Given the description of an element on the screen output the (x, y) to click on. 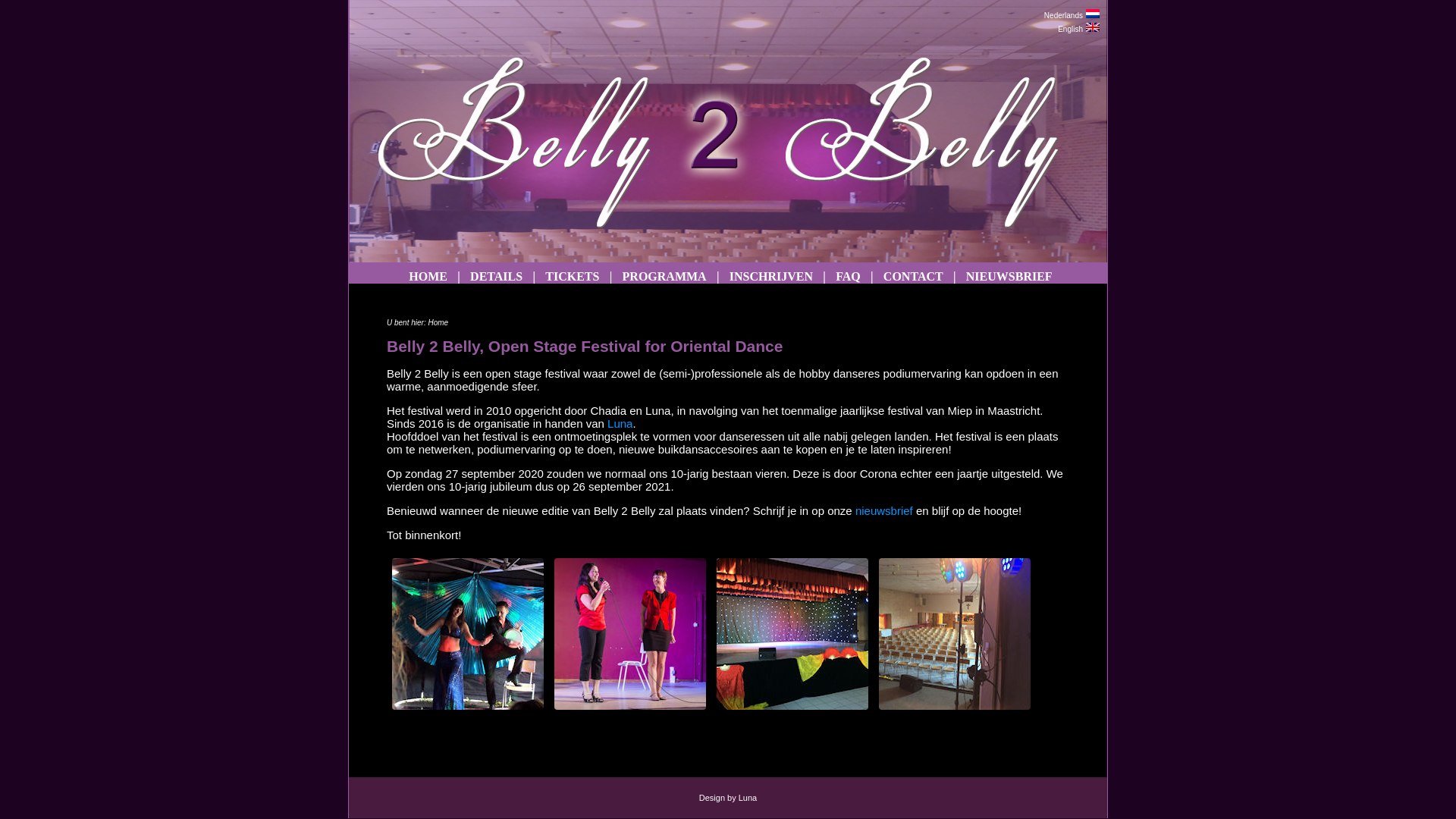
NIEUWSBRIEF Element type: text (1009, 275)
DETAILS Element type: text (496, 275)
English Element type: text (1069, 29)
Nederlands Element type: text (1063, 15)
FAQ Element type: text (847, 275)
TICKETS Element type: text (572, 275)
nieuwsbrief Element type: text (884, 510)
CONTACT Element type: text (913, 275)
PROGRAMMA Element type: text (664, 275)
HOME Element type: text (427, 275)
Design by Luna Element type: text (727, 797)
INSCHRIJVEN Element type: text (770, 275)
Luna Element type: text (619, 423)
